Given the description of an element on the screen output the (x, y) to click on. 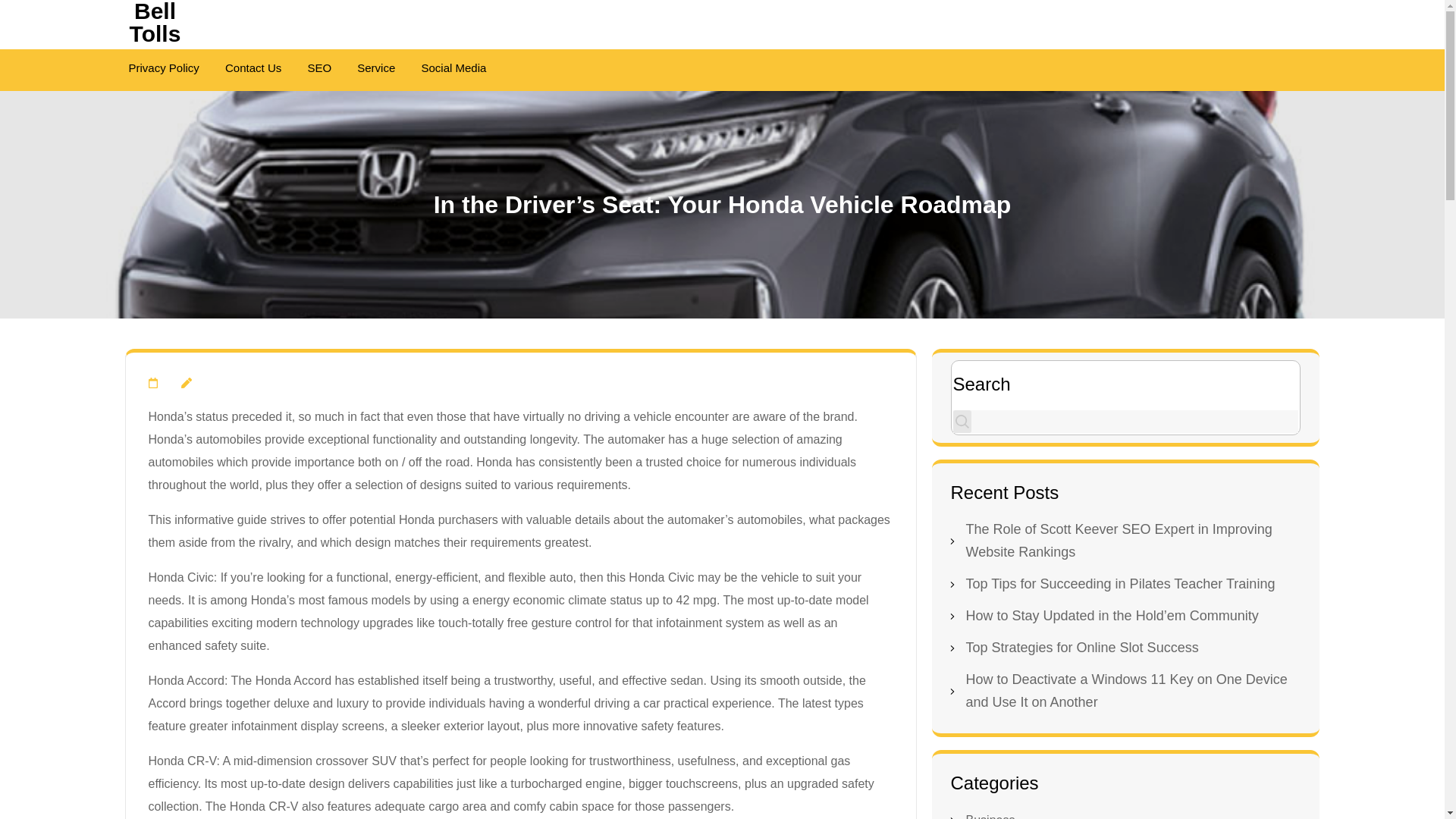
Privacy Policy (164, 69)
Business (990, 816)
Service (375, 69)
Top Tips for Succeeding in Pilates Teacher Training (1120, 583)
Bell Tolls (154, 22)
Social Media (453, 69)
SEO (319, 69)
Contact Us (253, 69)
Top Strategies for Online Slot Success (1082, 647)
